Given the description of an element on the screen output the (x, y) to click on. 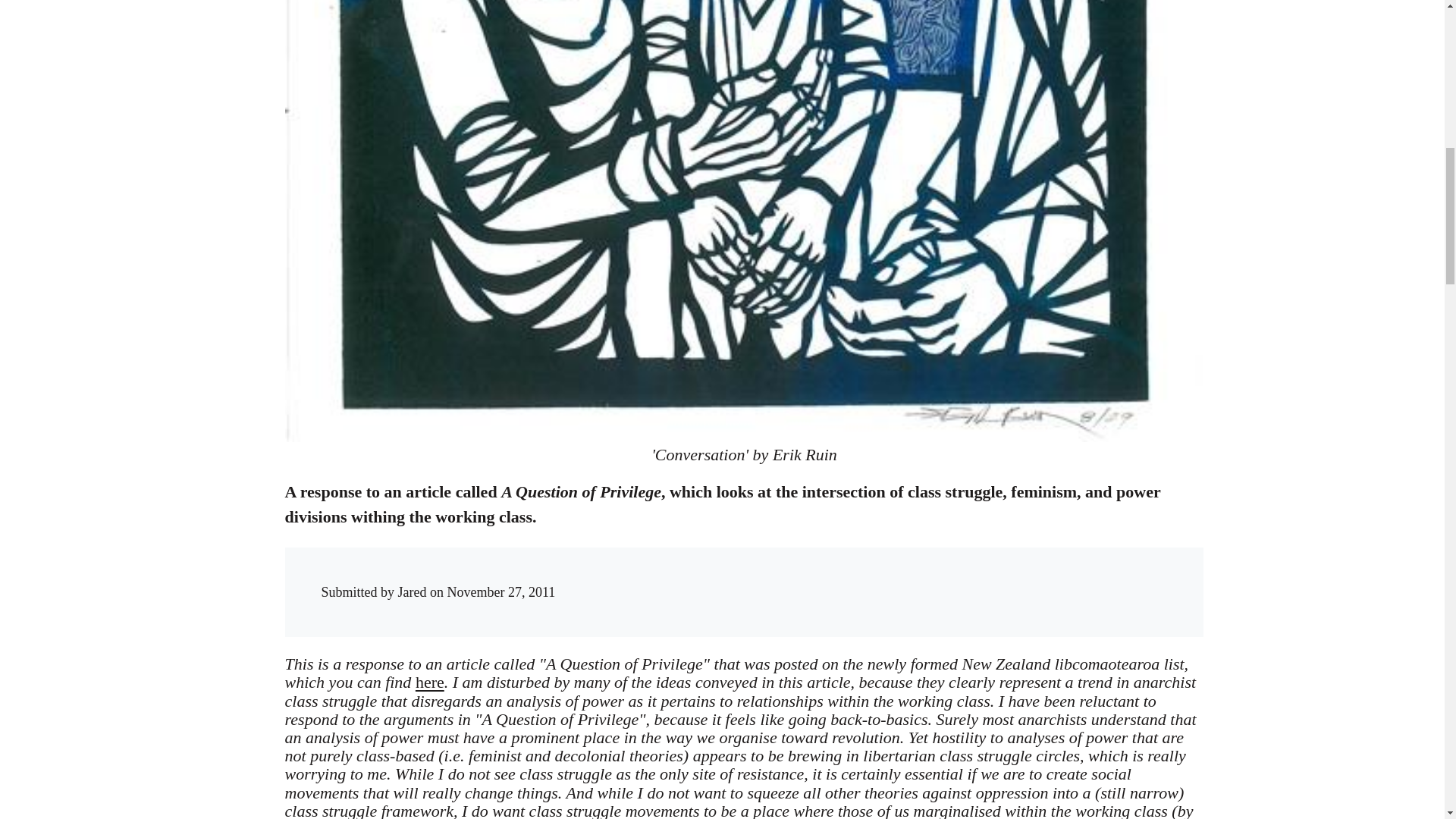
Share to Reddit (975, 577)
Share to Facebook (914, 577)
Share to Twitter (945, 577)
here (429, 681)
